Given the description of an element on the screen output the (x, y) to click on. 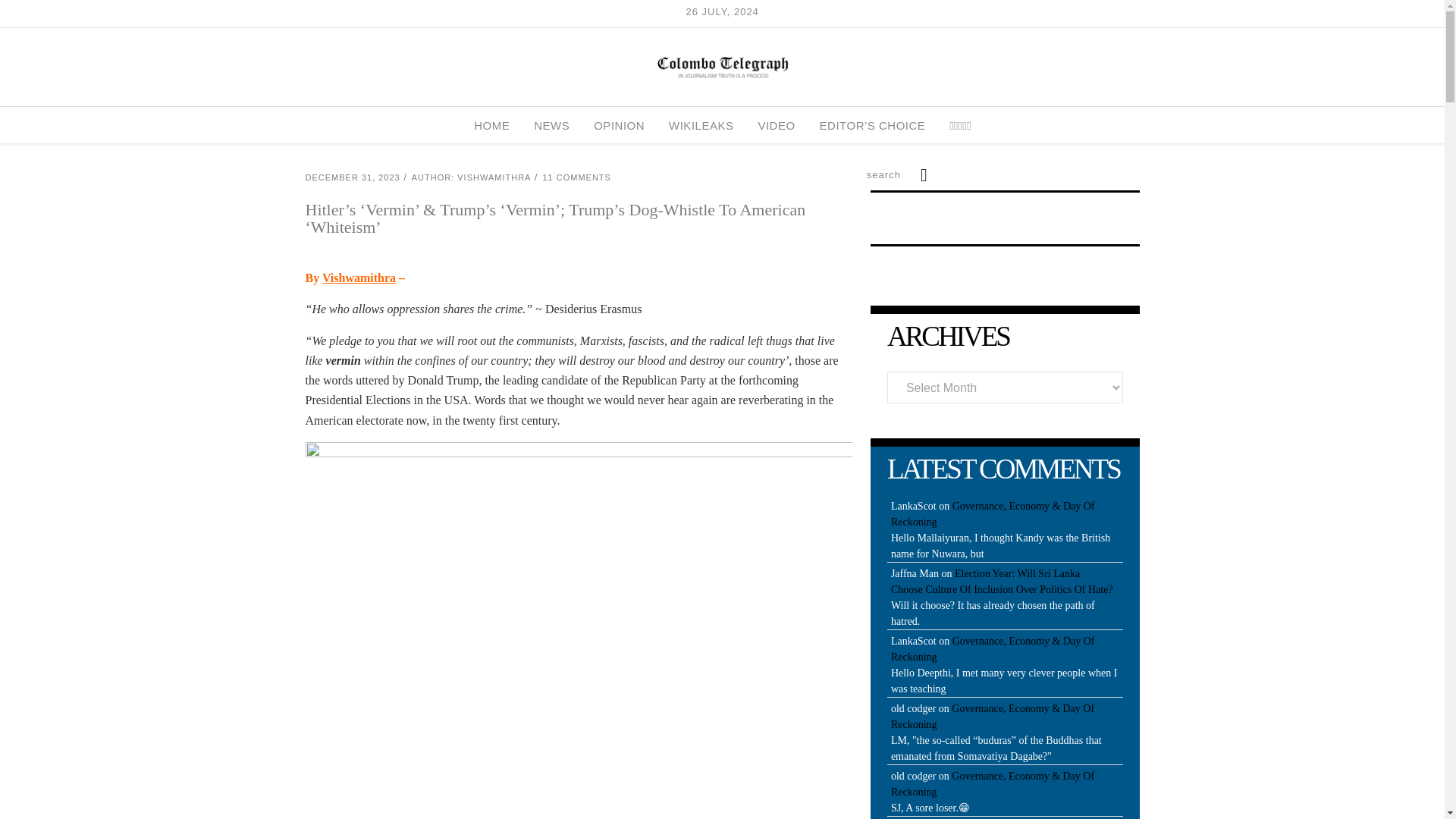
NEWS (550, 125)
Vishwamithra (358, 277)
WIKILEAKS (700, 125)
DECEMBER 31, 2023 (351, 176)
11 COMMENTS (575, 176)
AUTHOR: VISHWAMITHRA (471, 176)
VIDEO (775, 125)
OPINION (618, 125)
HOME (491, 125)
